Given the description of an element on the screen output the (x, y) to click on. 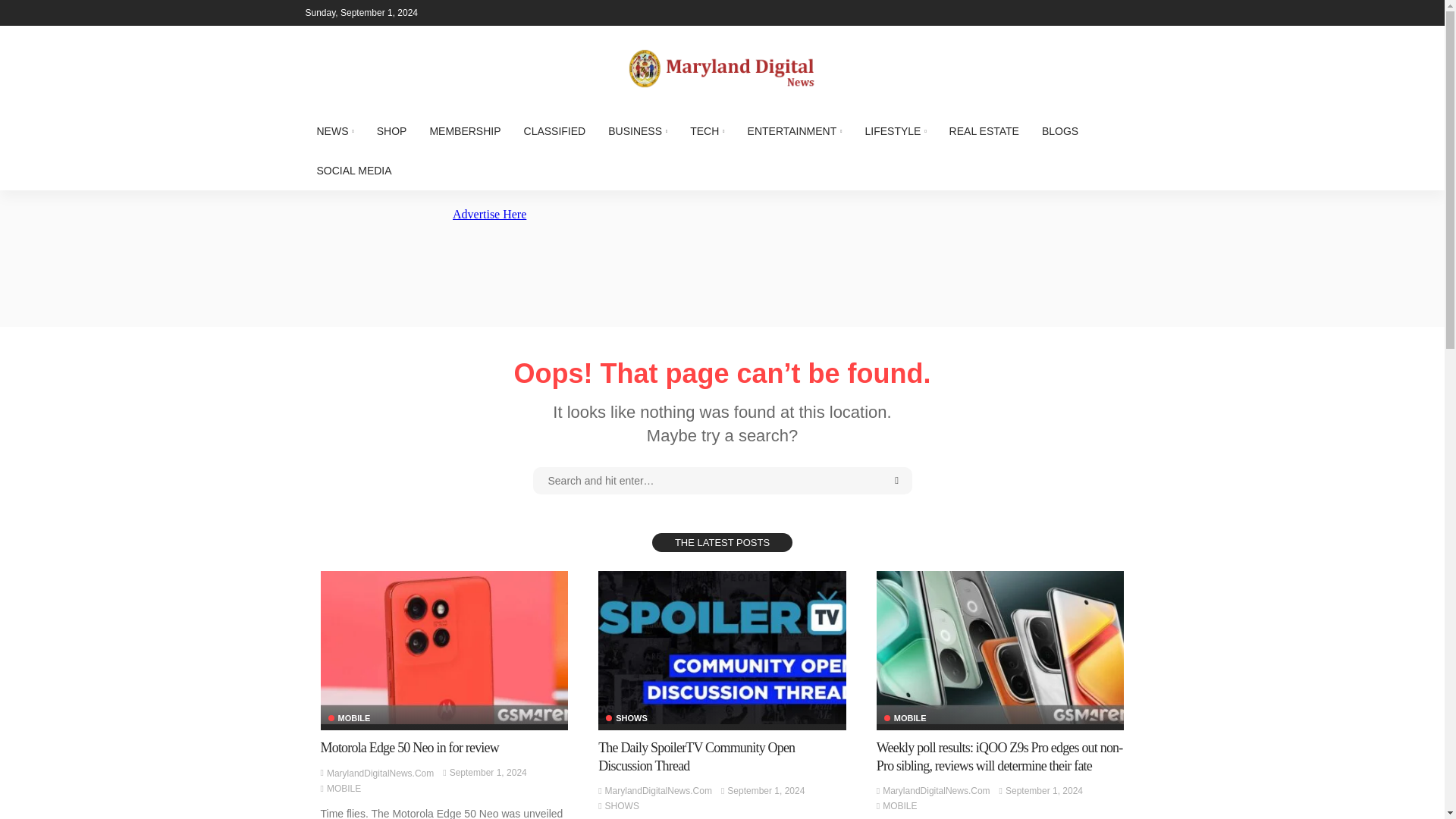
LIFESTYLE (895, 130)
CLASSIFIED (554, 130)
MOBILE (904, 718)
Motorola Edge 50 Neo in for review (408, 747)
SHOP (392, 130)
MOBILE (899, 806)
MOBILE (343, 788)
The Daily SpoilerTV Community Open Discussion Thread (721, 646)
